Given the description of an element on the screen output the (x, y) to click on. 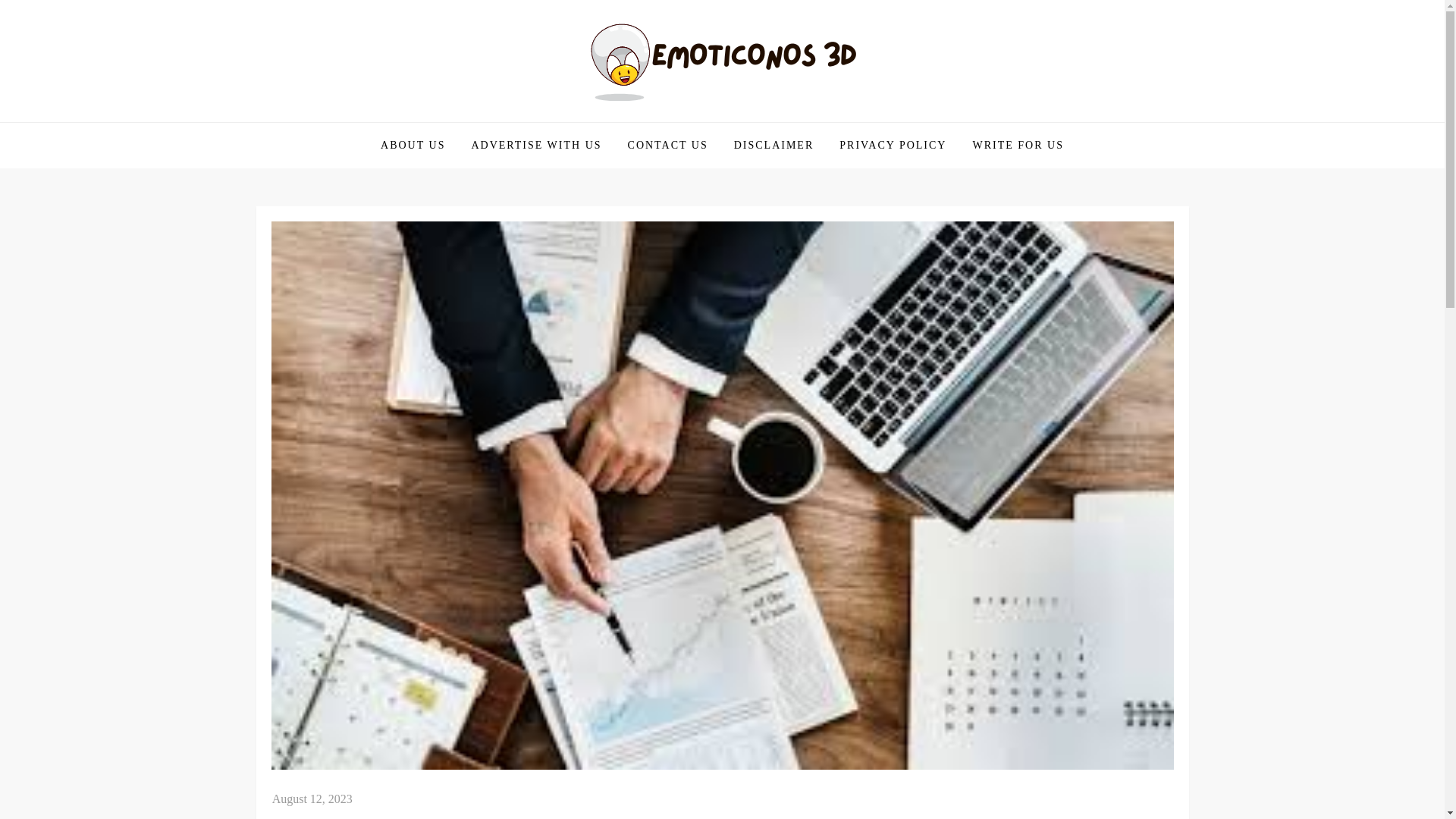
PRIVACY POLICY (893, 145)
August 12, 2023 (312, 798)
Emoticonos 3D (350, 121)
ABOUT US (413, 145)
DISCLAIMER (773, 145)
WRITE FOR US (1017, 145)
CONTACT US (667, 145)
ADVERTISE WITH US (536, 145)
